Given the description of an element on the screen output the (x, y) to click on. 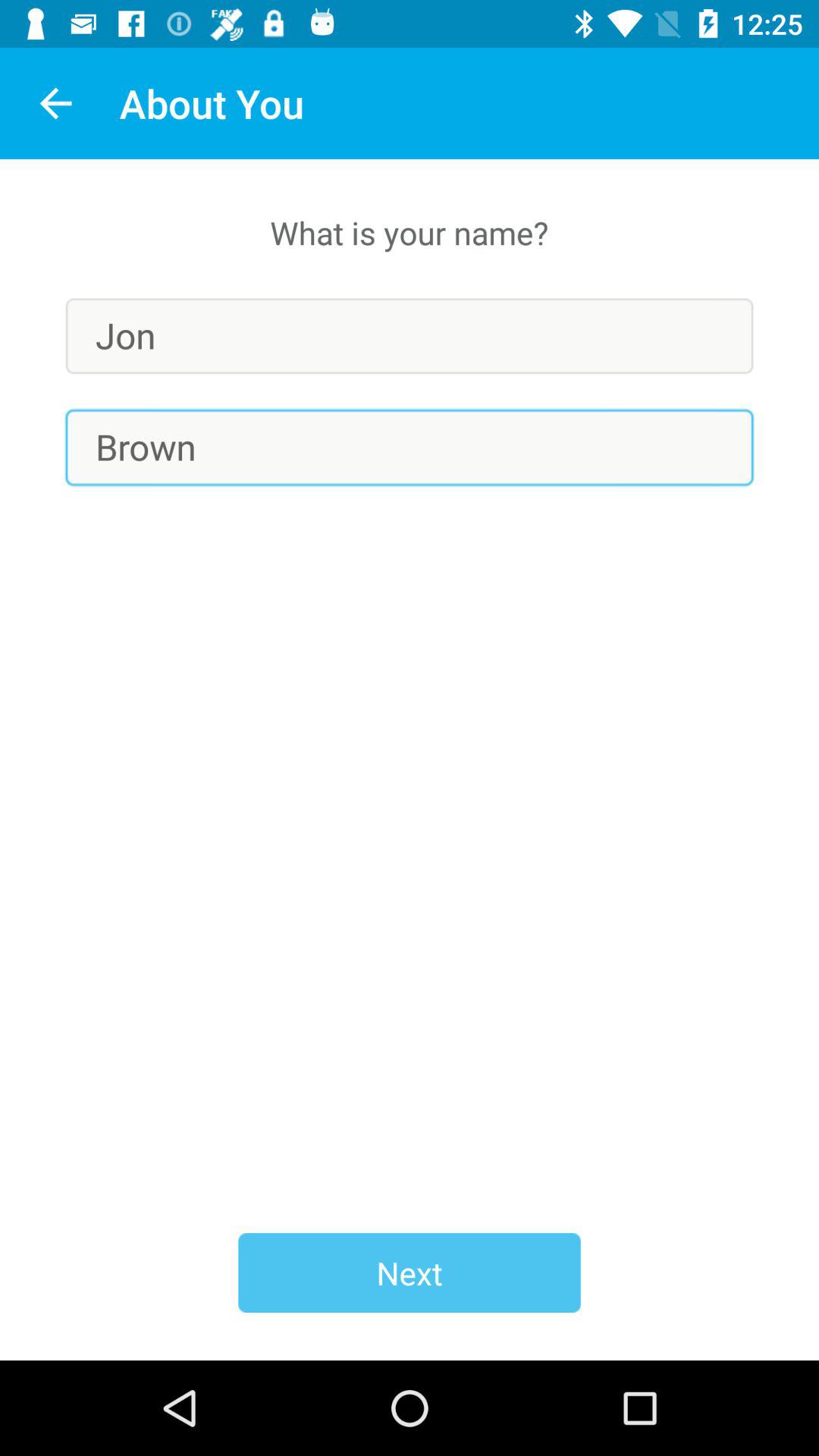
launch icon to the left of the about you item (55, 103)
